Given the description of an element on the screen output the (x, y) to click on. 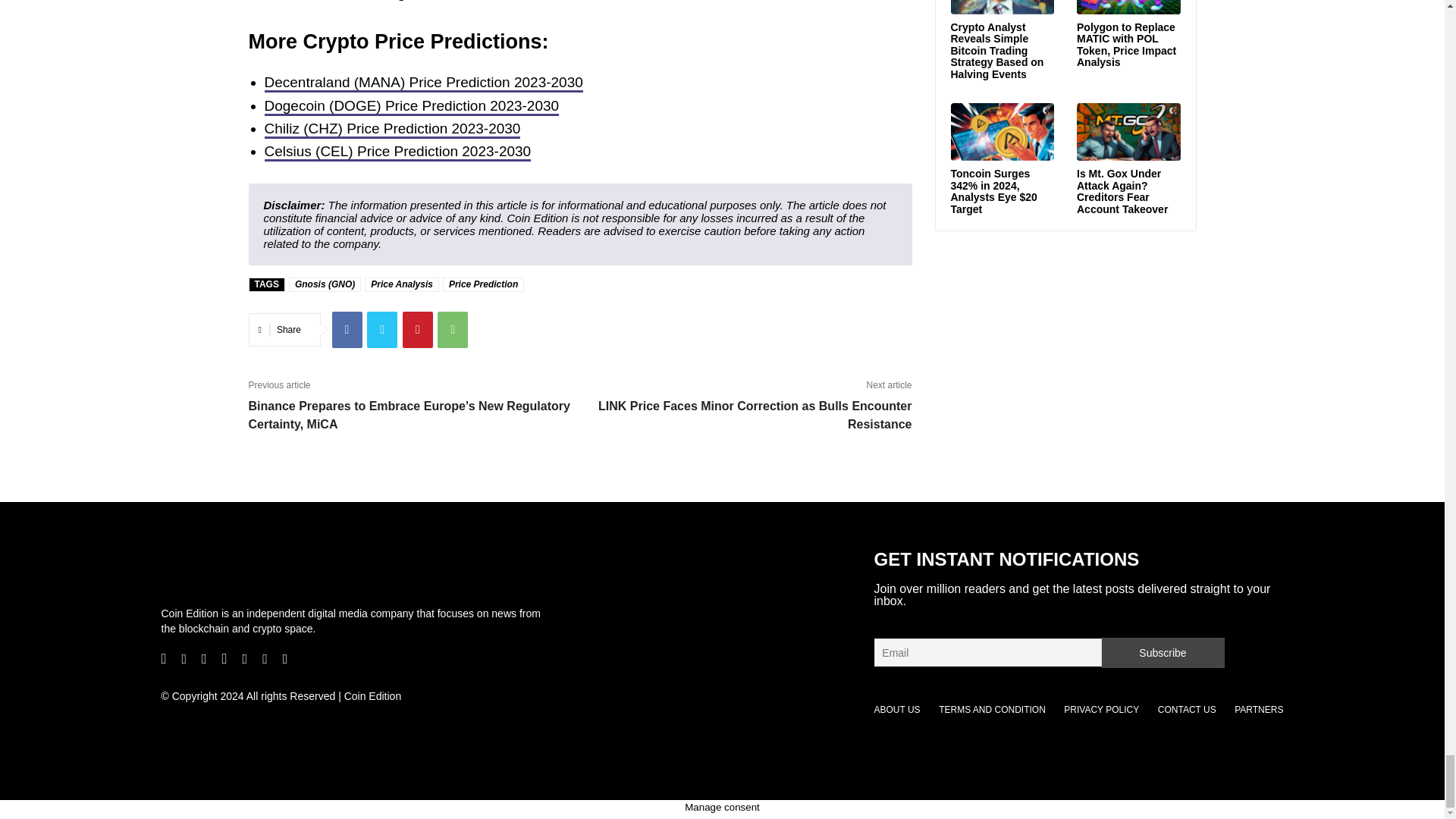
Subscribe (1162, 653)
